Given the description of an element on the screen output the (x, y) to click on. 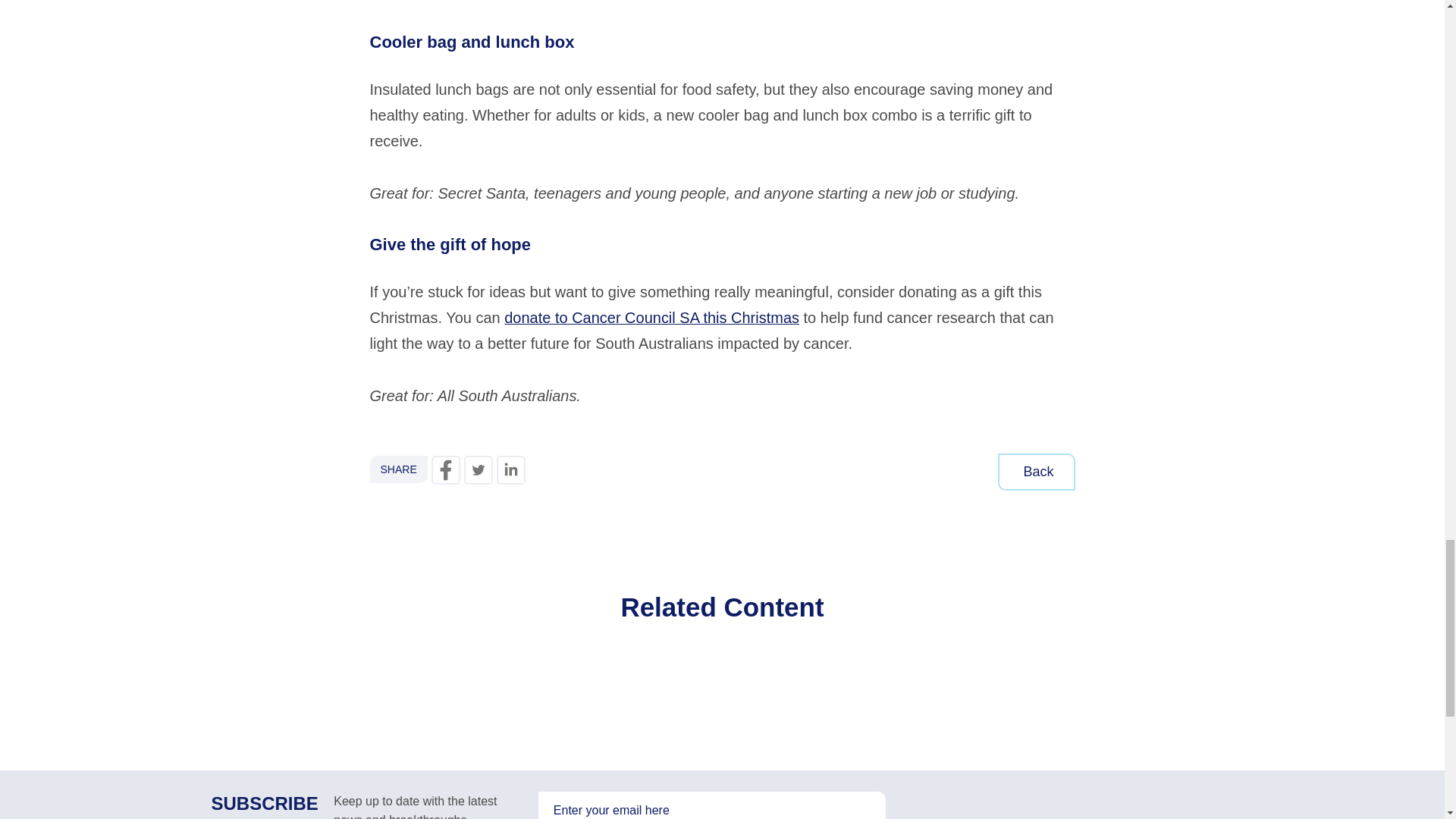
Share on LinkedIn (510, 469)
Share on Twitter (478, 469)
Share on Facebook (445, 469)
